Given the description of an element on the screen output the (x, y) to click on. 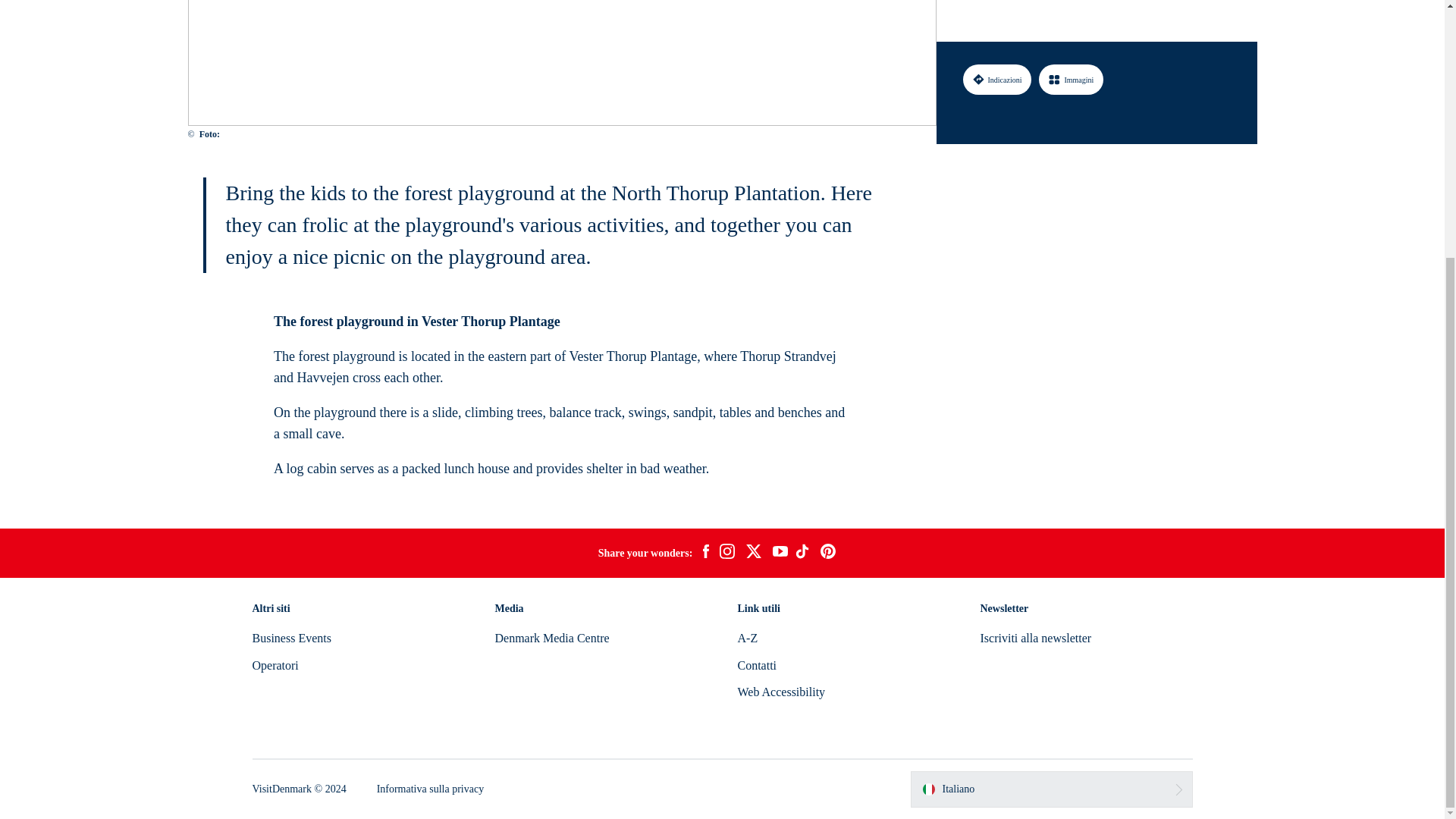
Web Accessibility (780, 691)
instagram (726, 553)
youtube (780, 553)
Operatori (274, 665)
Operatori (274, 665)
Denmark Media Centre (551, 637)
Contatti (756, 665)
Denmark Media Centre (551, 637)
Iscriviti alla newsletter (1034, 637)
A-Z (746, 637)
